Given the description of an element on the screen output the (x, y) to click on. 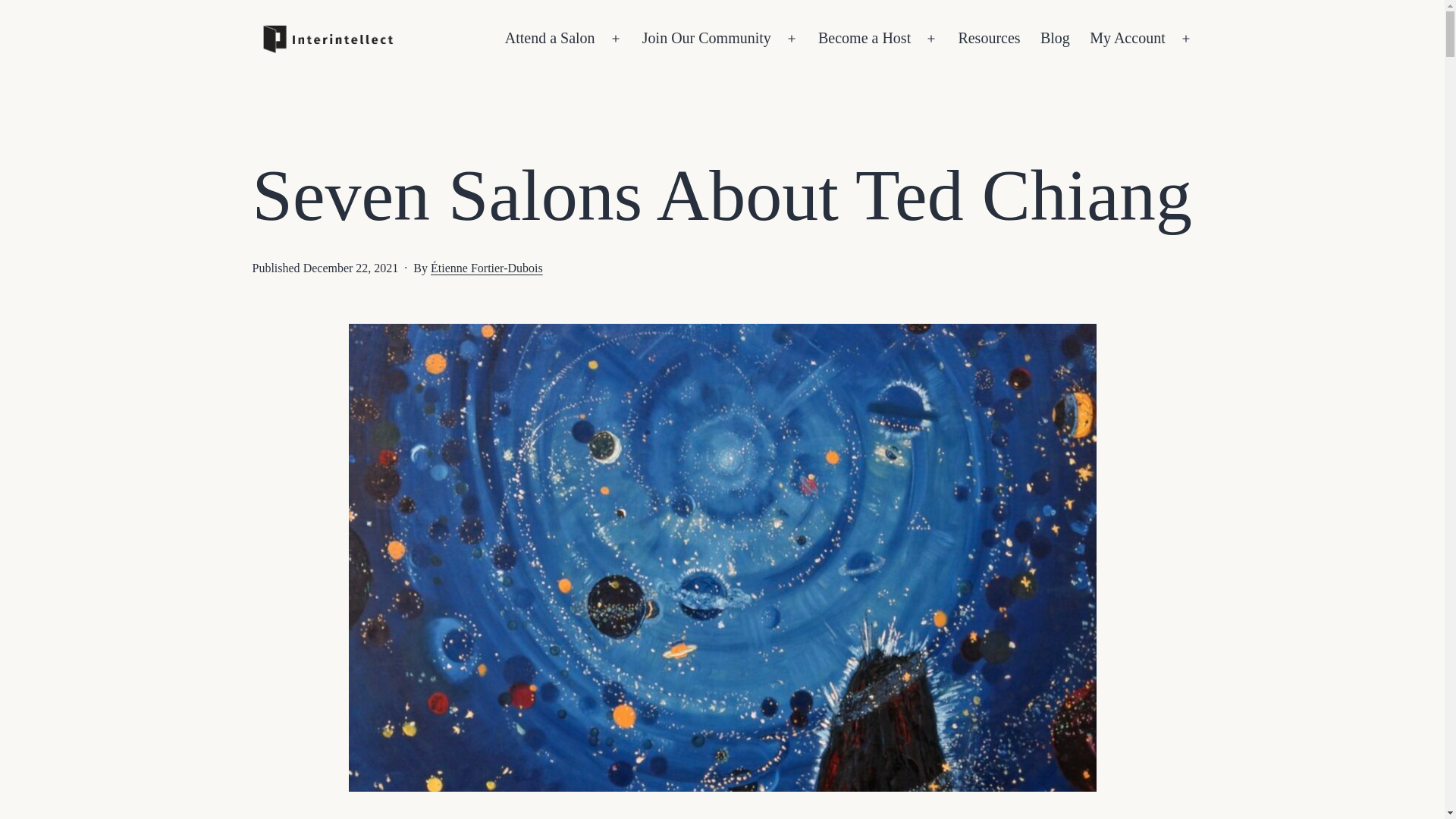
Blog (1055, 38)
My Account (1127, 38)
Become a Host (864, 38)
Attend a Salon (550, 38)
Join Our Community (705, 38)
Resources (988, 38)
